Given the description of an element on the screen output the (x, y) to click on. 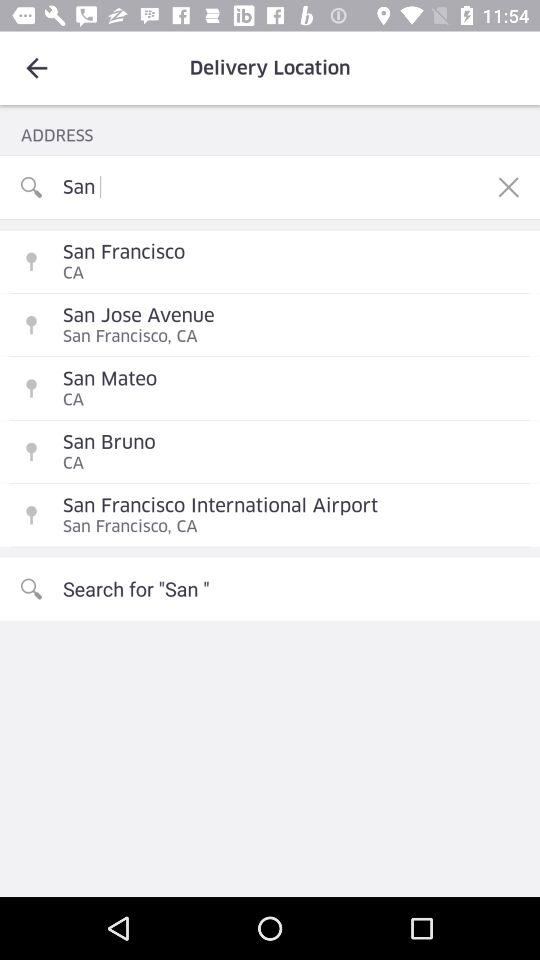
choose icon to the left of the delivery location item (36, 68)
